Given the description of an element on the screen output the (x, y) to click on. 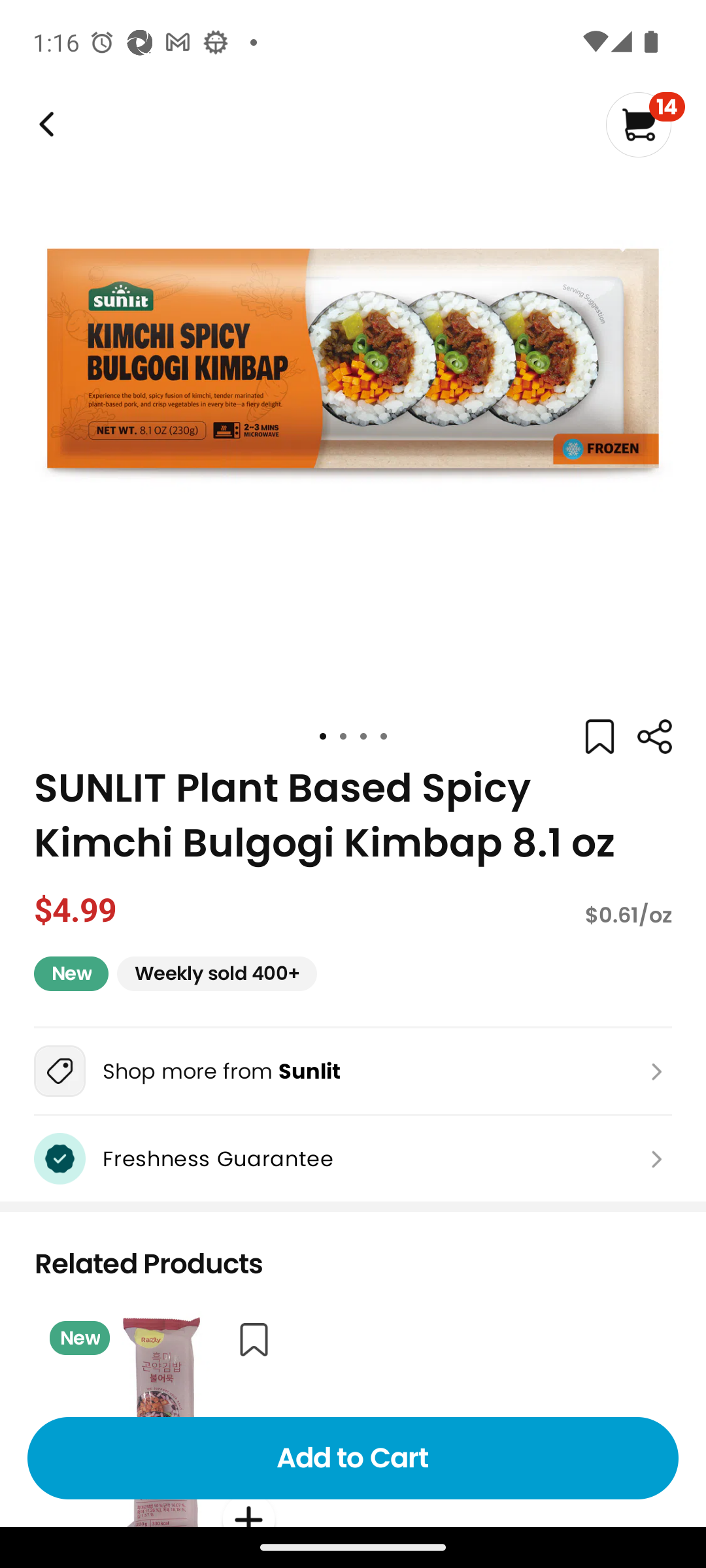
14 (644, 124)
Weee! (45, 124)
Weee! (653, 736)
Shop more from Sunlit Weee! (352, 1070)
Freshness Guarantee (352, 1158)
Add to Cart (352, 1458)
